Given the description of an element on the screen output the (x, y) to click on. 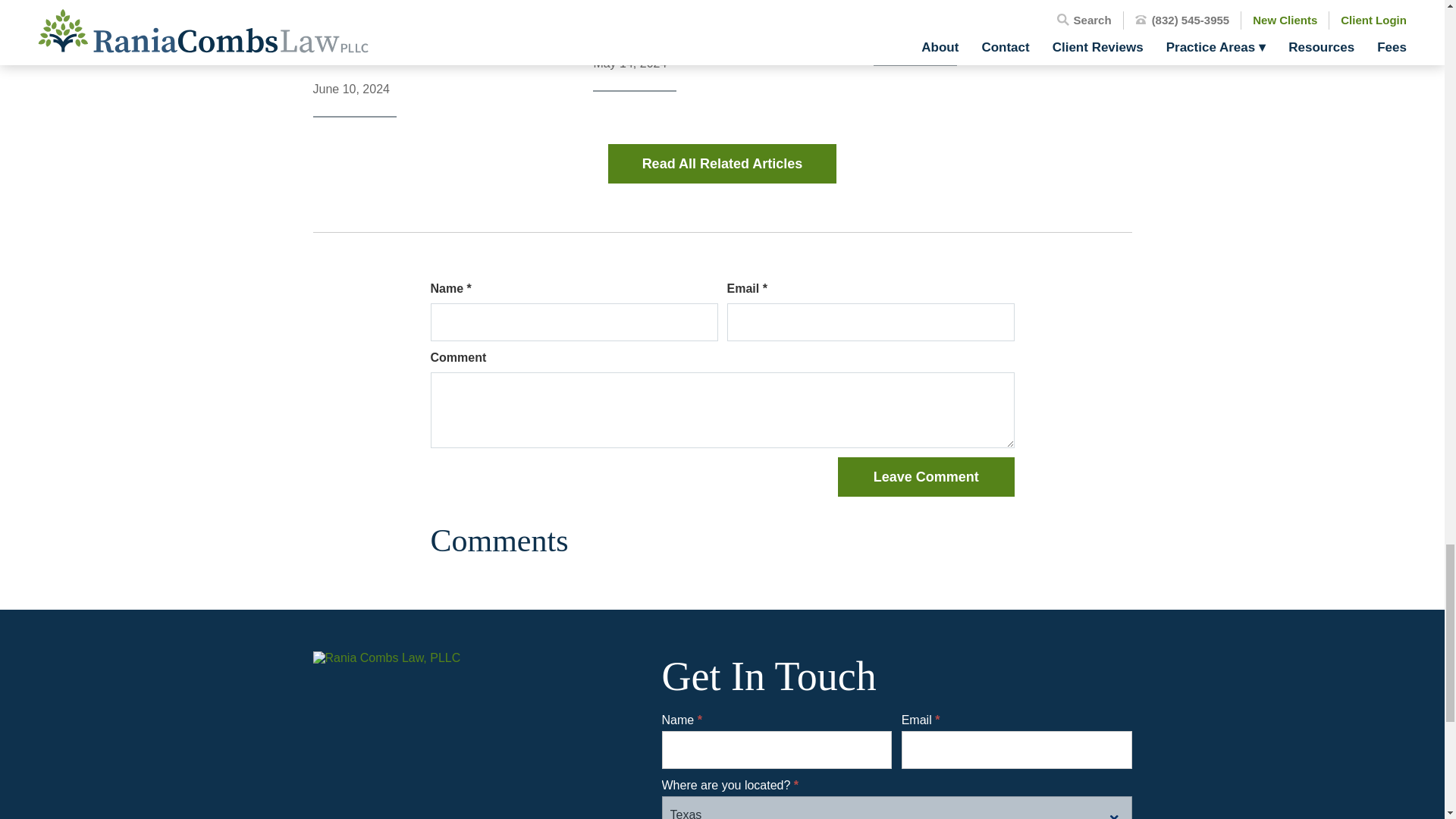
Read All Related Articles (722, 163)
Leave Comment (925, 476)
Leave Comment (925, 476)
homepage (416, 707)
